Given the description of an element on the screen output the (x, y) to click on. 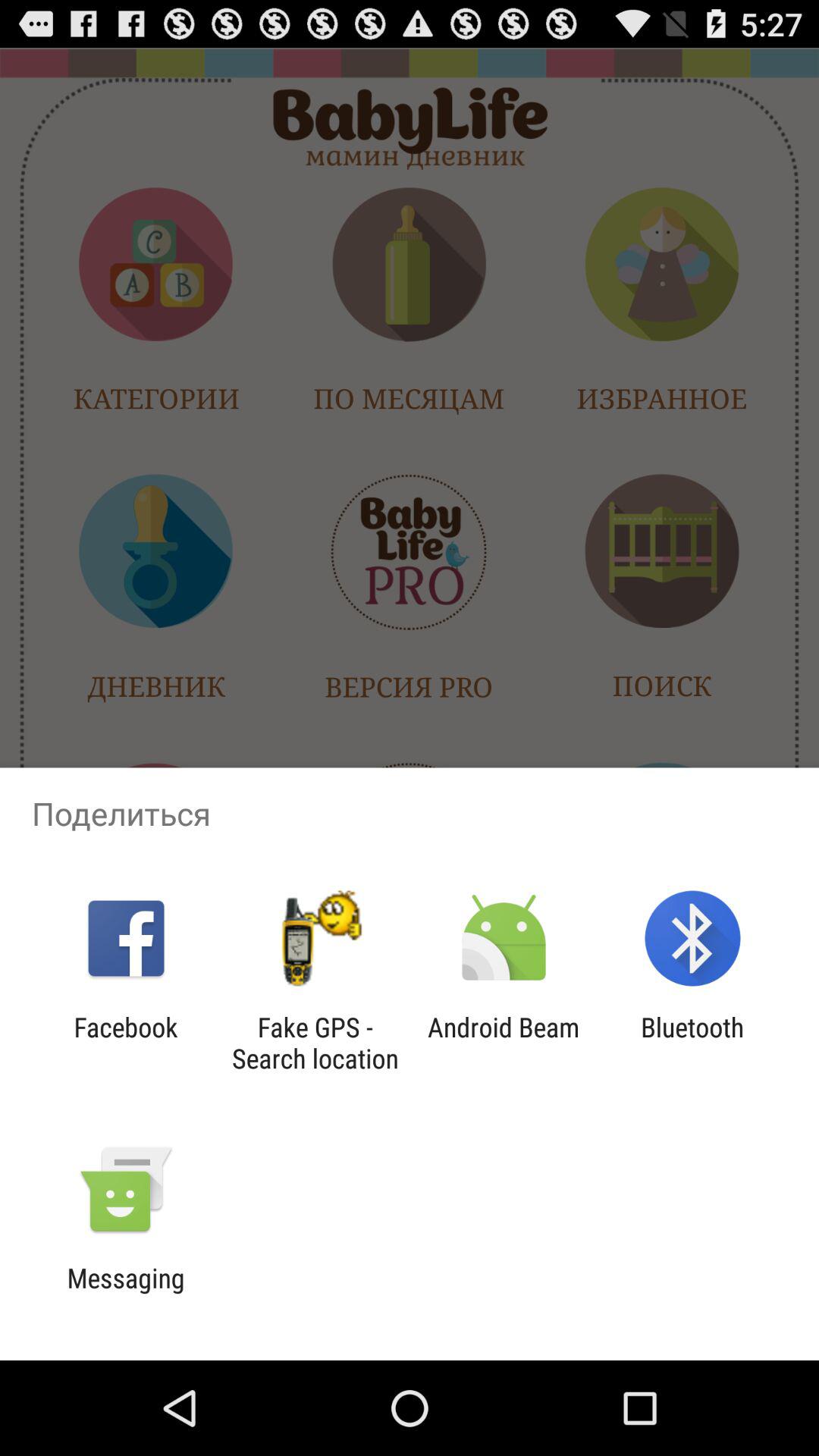
launch the app next to android beam app (314, 1042)
